Given the description of an element on the screen output the (x, y) to click on. 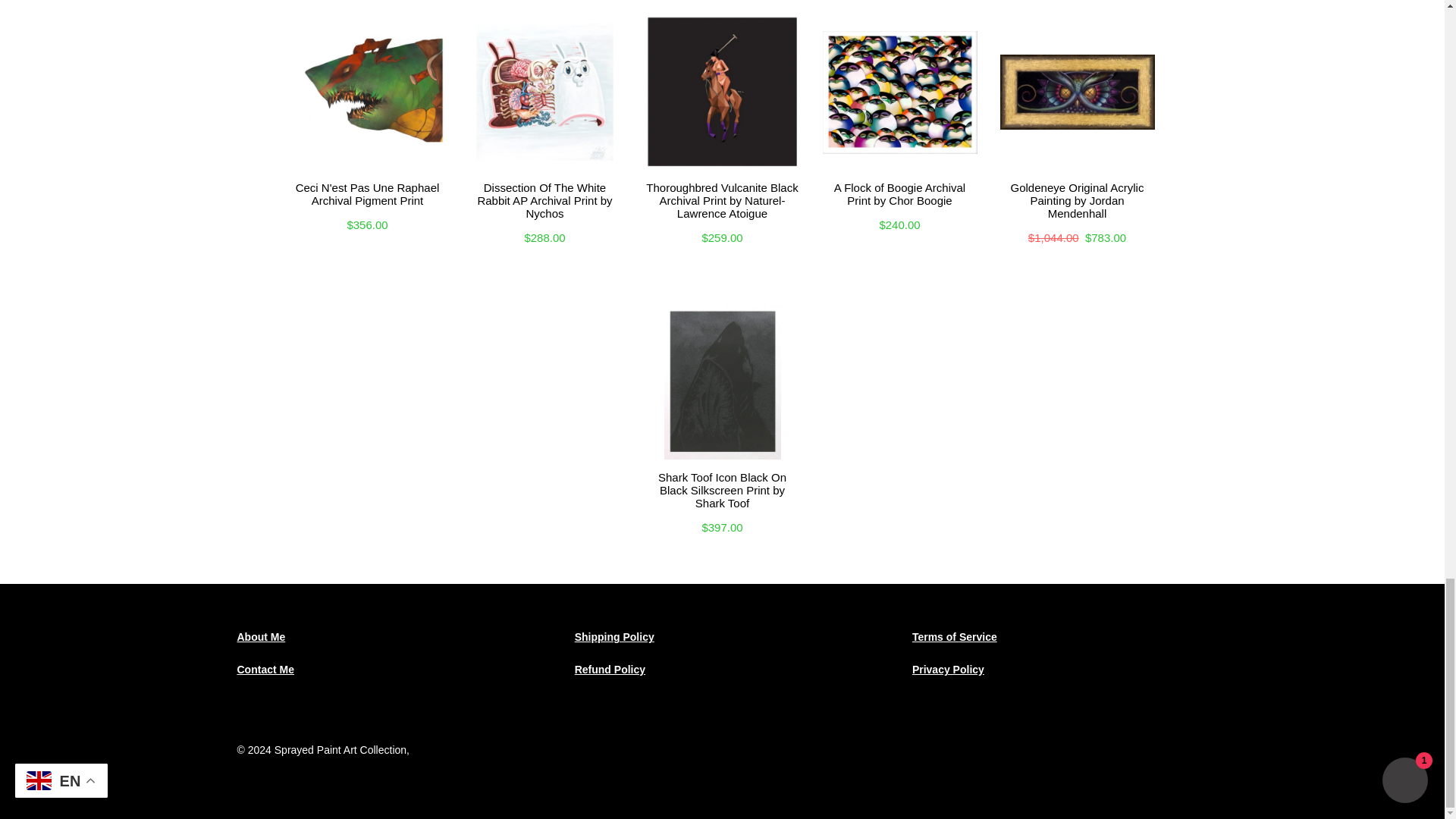
A Flock of Boogie Archival Print by Chor Boogie (899, 191)
Dissection Of The White Rabbit AP Archival Print by Nychos (544, 198)
Goldeneye Original Acrylic Painting by Jordan Mendenhall (1076, 198)
Ceci N'est Pas Une Raphael  Archival Pigment Print (366, 191)
Contact (264, 669)
About SprayedPaint.com (260, 636)
